Given the description of an element on the screen output the (x, y) to click on. 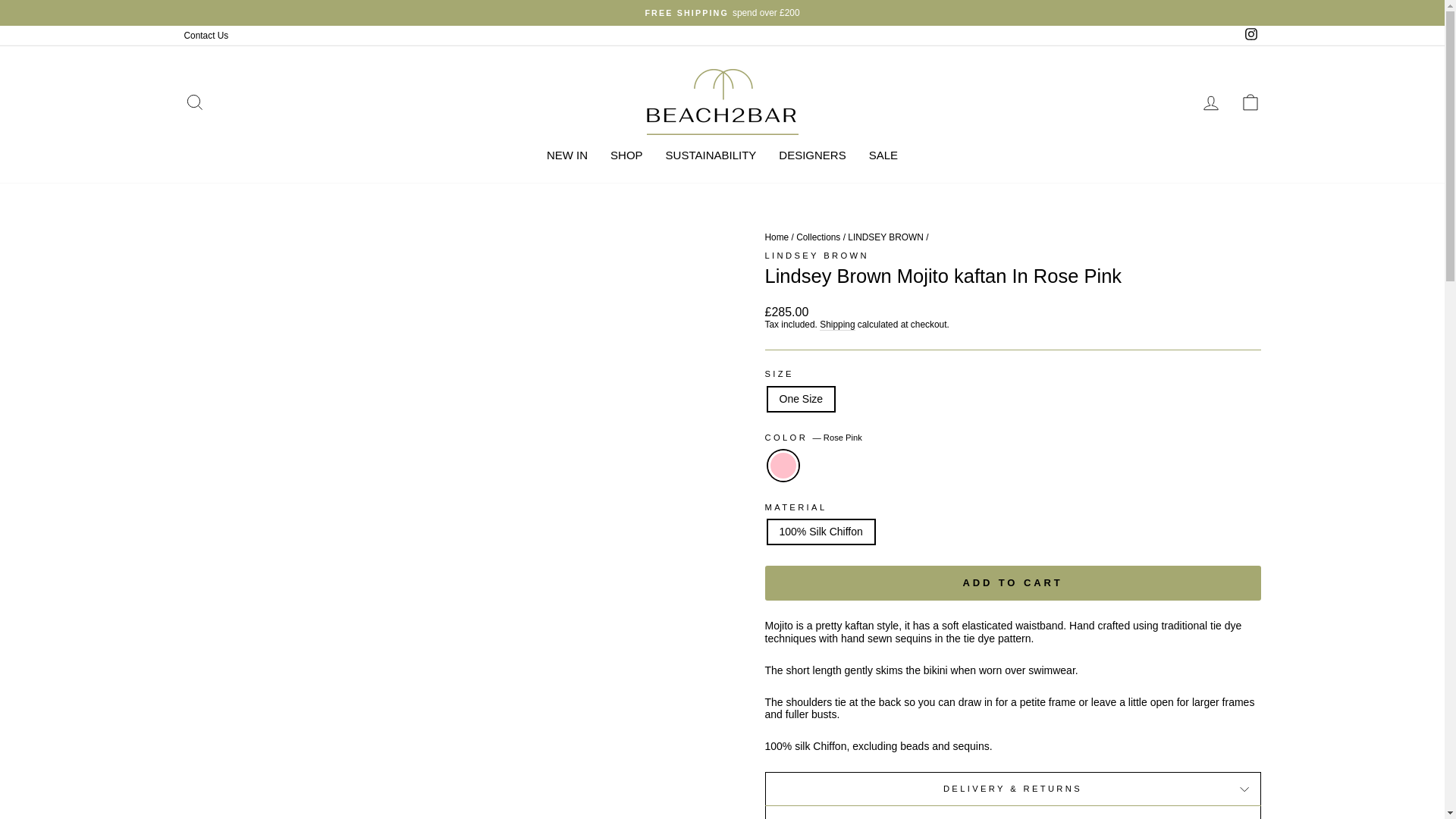
NEW IN (566, 154)
Log in (1210, 101)
Instagram (1250, 35)
Contact Us (205, 35)
Search (194, 101)
Beach 2 Bar London  on Instagram (1250, 35)
SHOP (625, 154)
Back to the frontpage (776, 236)
Cart (1249, 101)
